Given the description of an element on the screen output the (x, y) to click on. 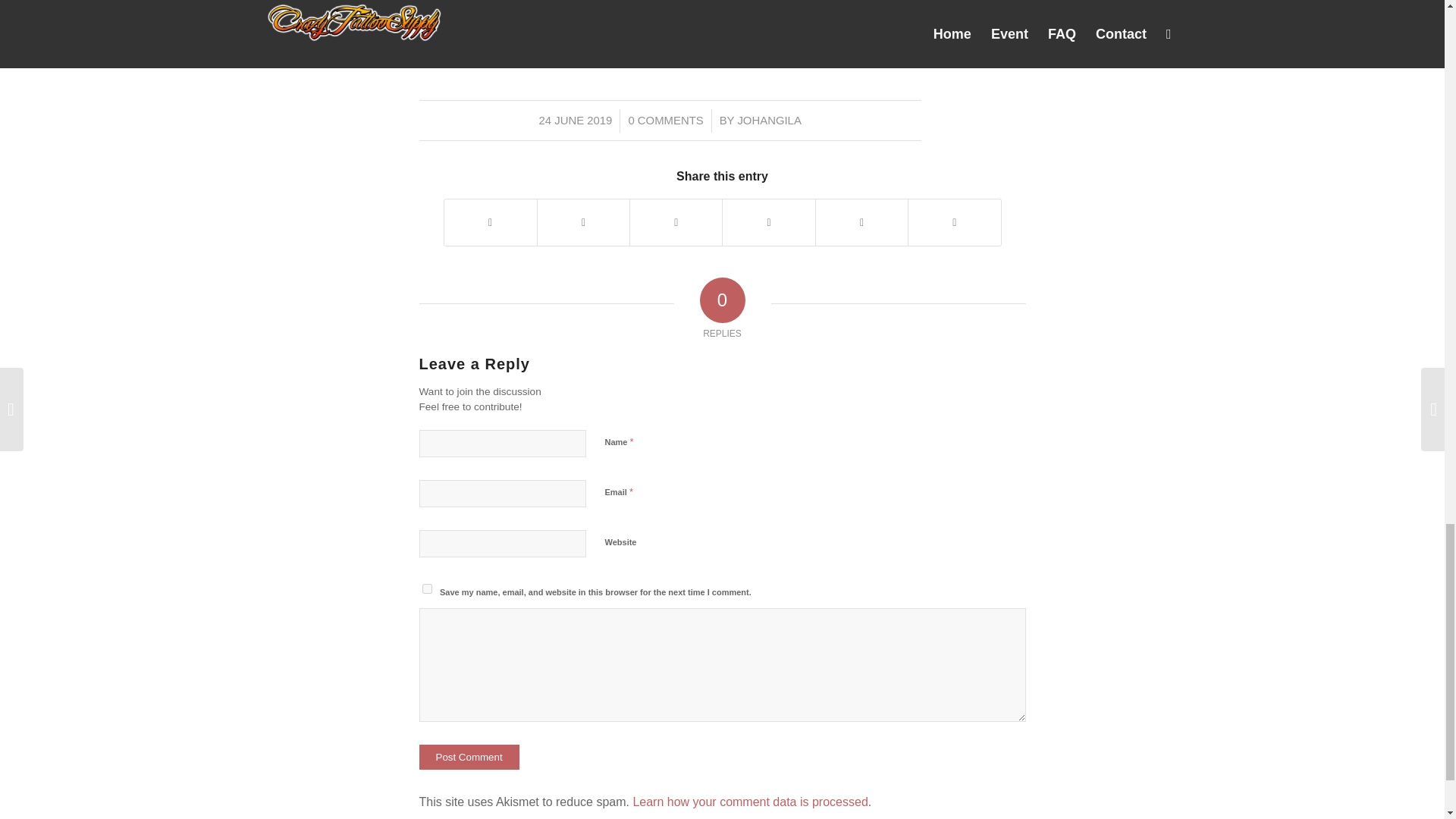
Posts by johangila (768, 120)
Post Comment (468, 756)
JOHANGILA (768, 120)
yes (426, 588)
Post Comment (468, 756)
0 COMMENTS (665, 120)
Learn how your comment data is processed (749, 801)
